Given the description of an element on the screen output the (x, y) to click on. 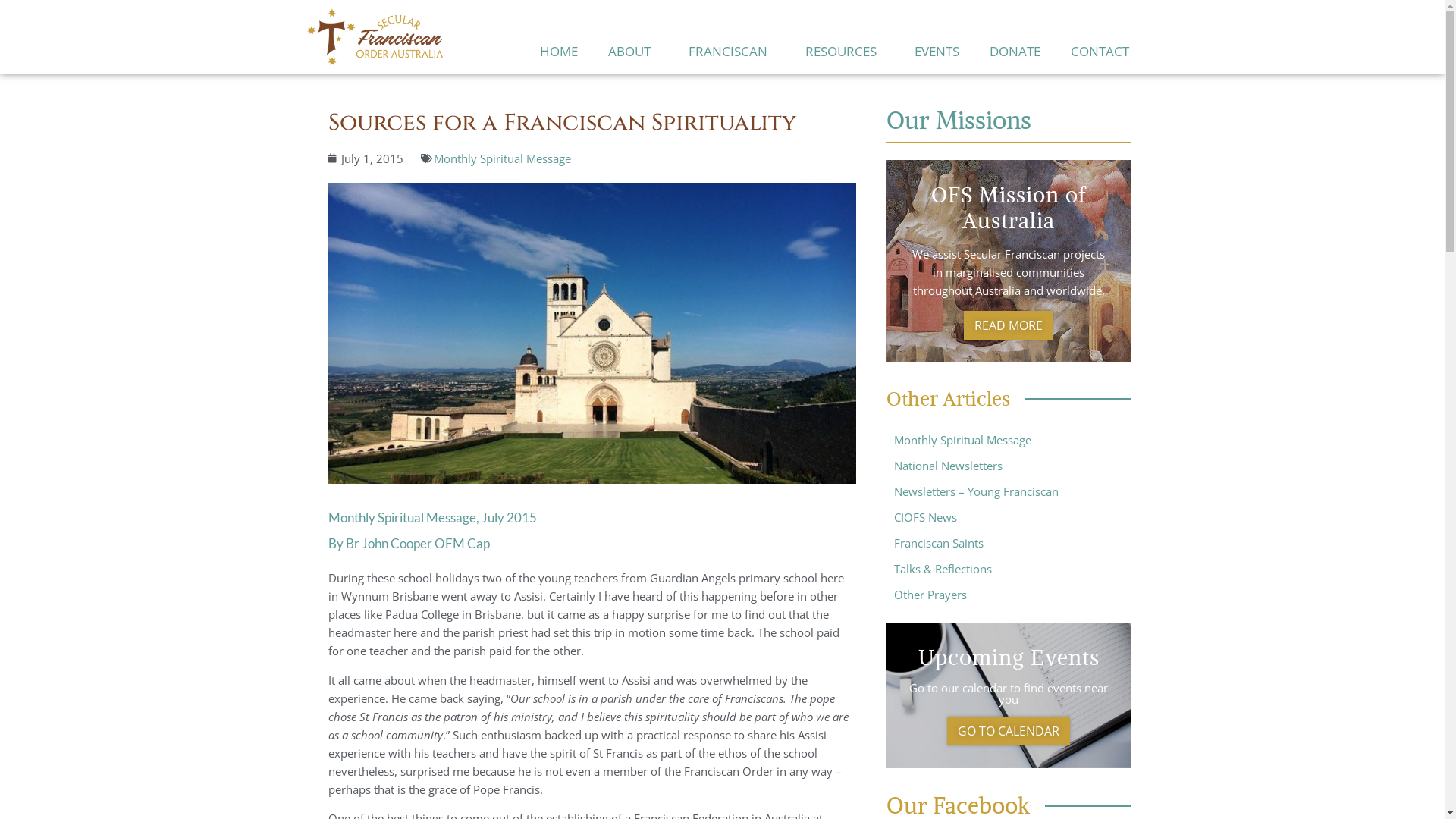
DONATE Element type: text (1014, 51)
FRANCISCAN Element type: text (731, 51)
Talks & Reflections Element type: text (1007, 568)
EVENTS Element type: text (936, 51)
National Newsletters Element type: text (1007, 465)
Franciscan Saints Element type: text (1007, 542)
Monthly Spiritual Message Element type: text (502, 158)
Monthly Spiritual Message Element type: text (1007, 439)
Other Prayers Element type: text (1007, 594)
CIOFS News Element type: text (1007, 517)
HOME Element type: text (558, 51)
RESOURCES Element type: text (844, 51)
CONTACT Element type: text (1099, 51)
ABOUT Element type: text (633, 51)
READ MORE Element type: text (1008, 324)
